Given the description of an element on the screen output the (x, y) to click on. 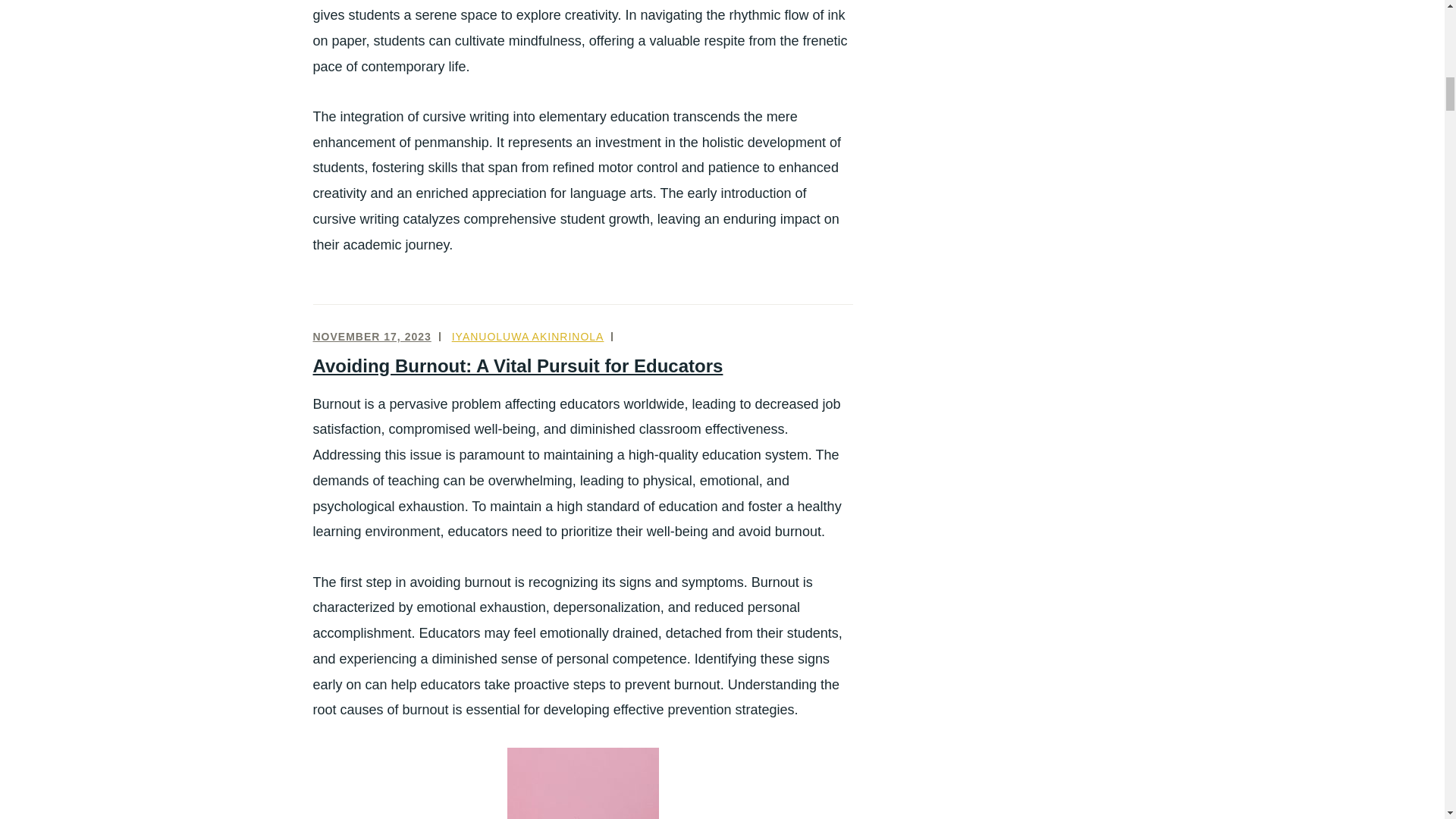
NOVEMBER 17, 2023 (371, 336)
Avoiding Burnout: A Vital Pursuit for Educators (517, 365)
IYANUOLUWA AKINRINOLA (527, 336)
